Given the description of an element on the screen output the (x, y) to click on. 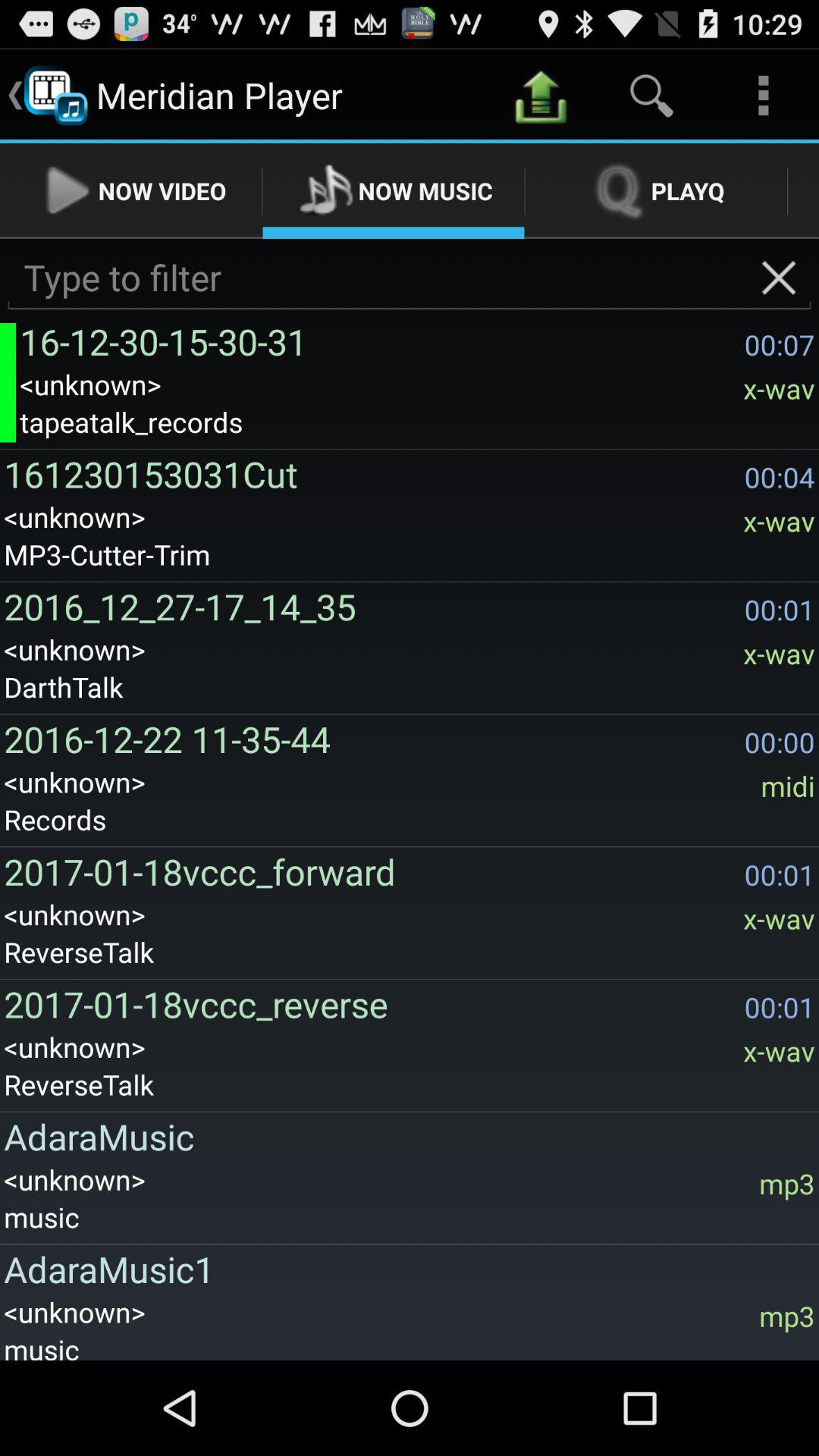
press the item above the 2016 12 22 app (409, 686)
